Given the description of an element on the screen output the (x, y) to click on. 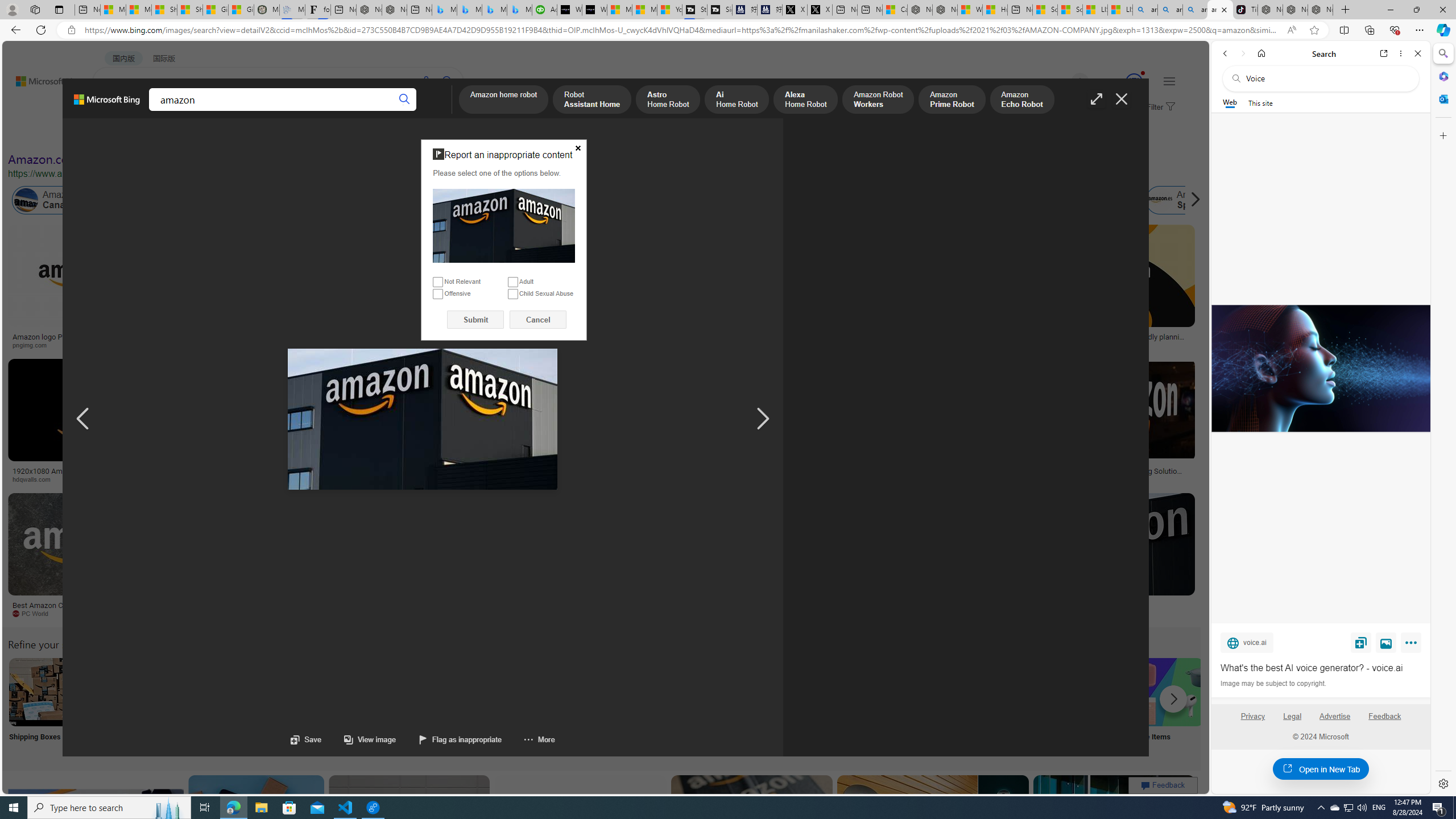
usatoday.com (403, 344)
The Verge (237, 613)
Amazon Prime Online (172, 199)
Mini TV (794, 706)
Back to Bing search (41, 78)
Amazon Prime Label (1018, 691)
Legal (1292, 720)
Sale Items (1169, 706)
Amazon Animals (426, 199)
